Given the description of an element on the screen output the (x, y) to click on. 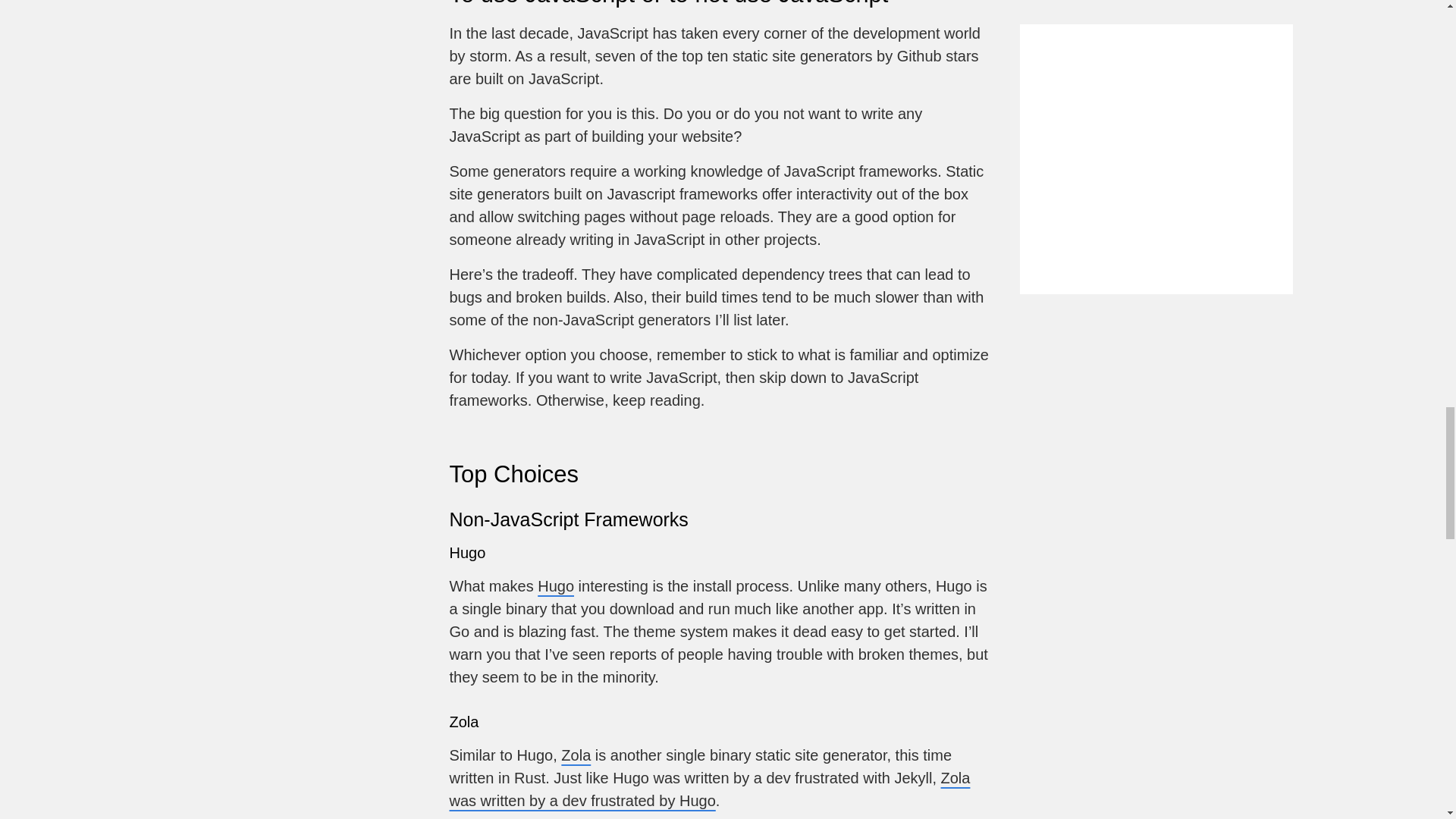
Hugo (555, 586)
Zola was written by a dev frustrated by Hugo (708, 789)
Zola (575, 754)
